Given the description of an element on the screen output the (x, y) to click on. 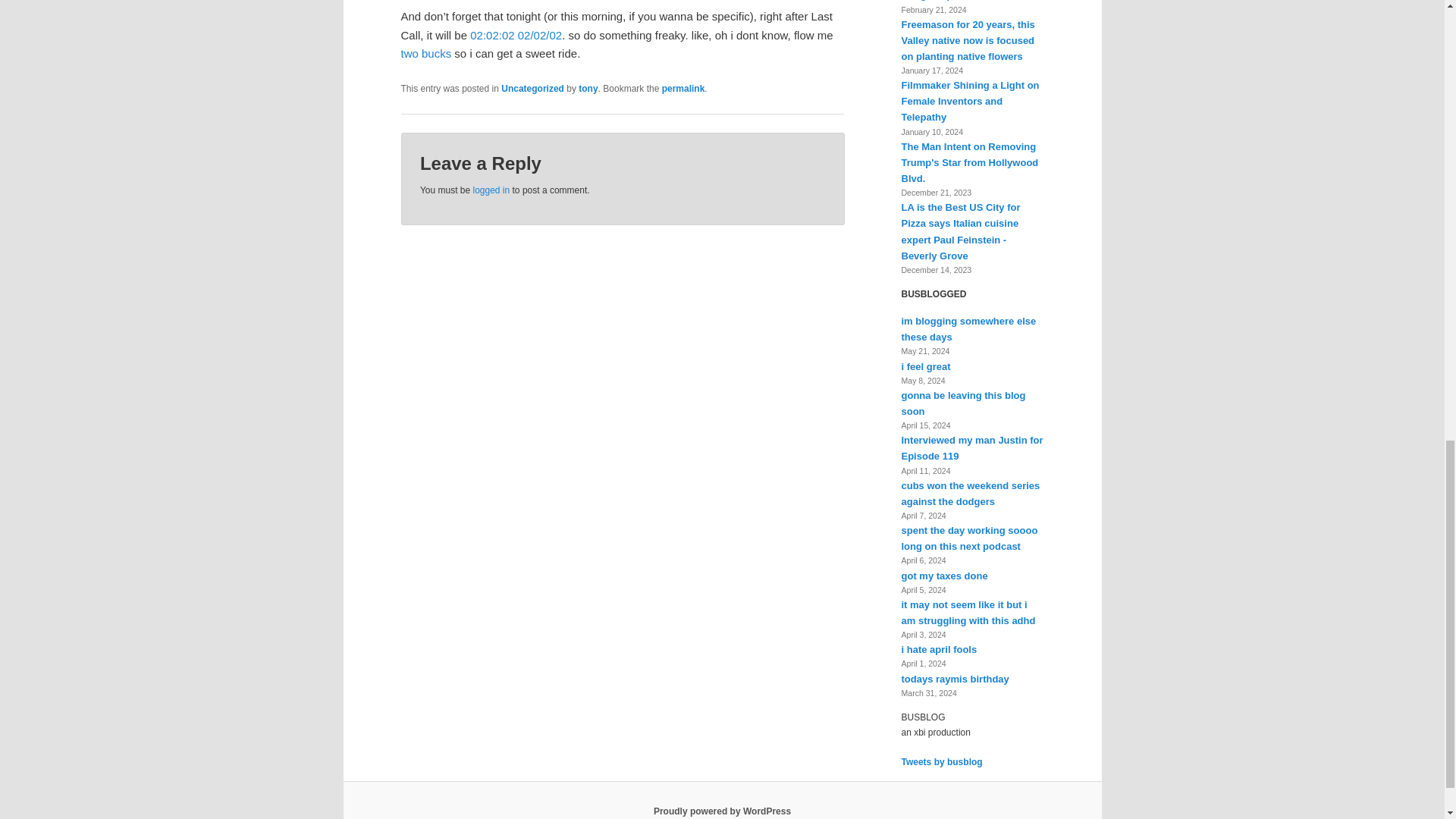
two bucks (425, 52)
tony (587, 88)
Uncategorized (532, 88)
Semantic Personal Publishing Platform (721, 810)
Permalink to weekend shout-outs: (683, 88)
permalink (683, 88)
logged in (490, 190)
